Given the description of an element on the screen output the (x, y) to click on. 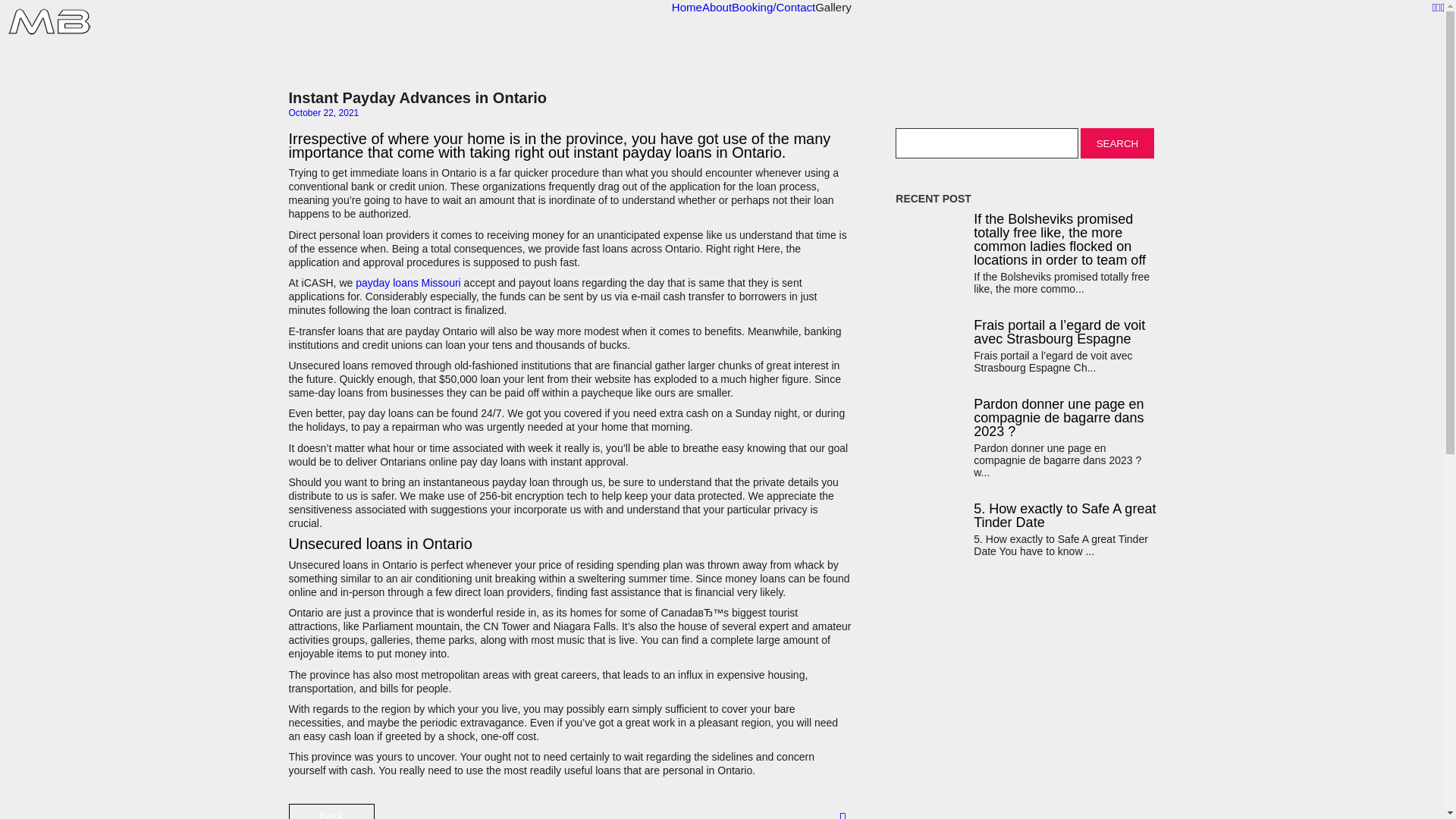
About (716, 7)
Home (686, 7)
Pardon donner une page en compagnie de bagarre dans 2023 ? (1065, 417)
payday loans Missouri (408, 282)
Gallery (833, 7)
Back (331, 811)
5. How exactly to Safe A great Tinder Date (1065, 515)
Search (1116, 142)
Search (1116, 142)
